Given the description of an element on the screen output the (x, y) to click on. 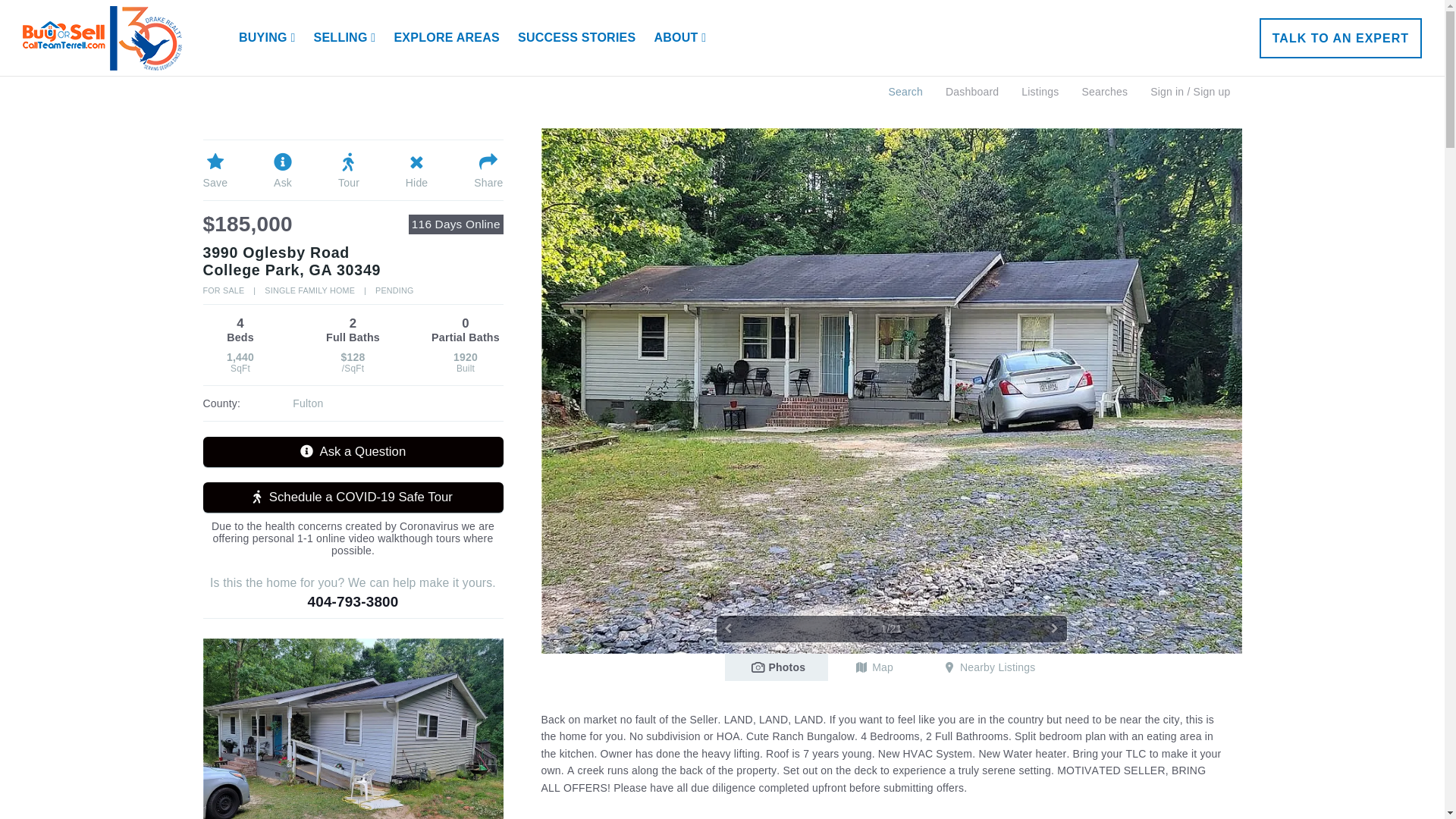
BUYING (267, 38)
ABOUT (679, 38)
TALK TO AN EXPERT (1340, 38)
SELLING (344, 38)
SUCCESS STORIES (576, 38)
EXPLORE AREAS (446, 38)
